Given the description of an element on the screen output the (x, y) to click on. 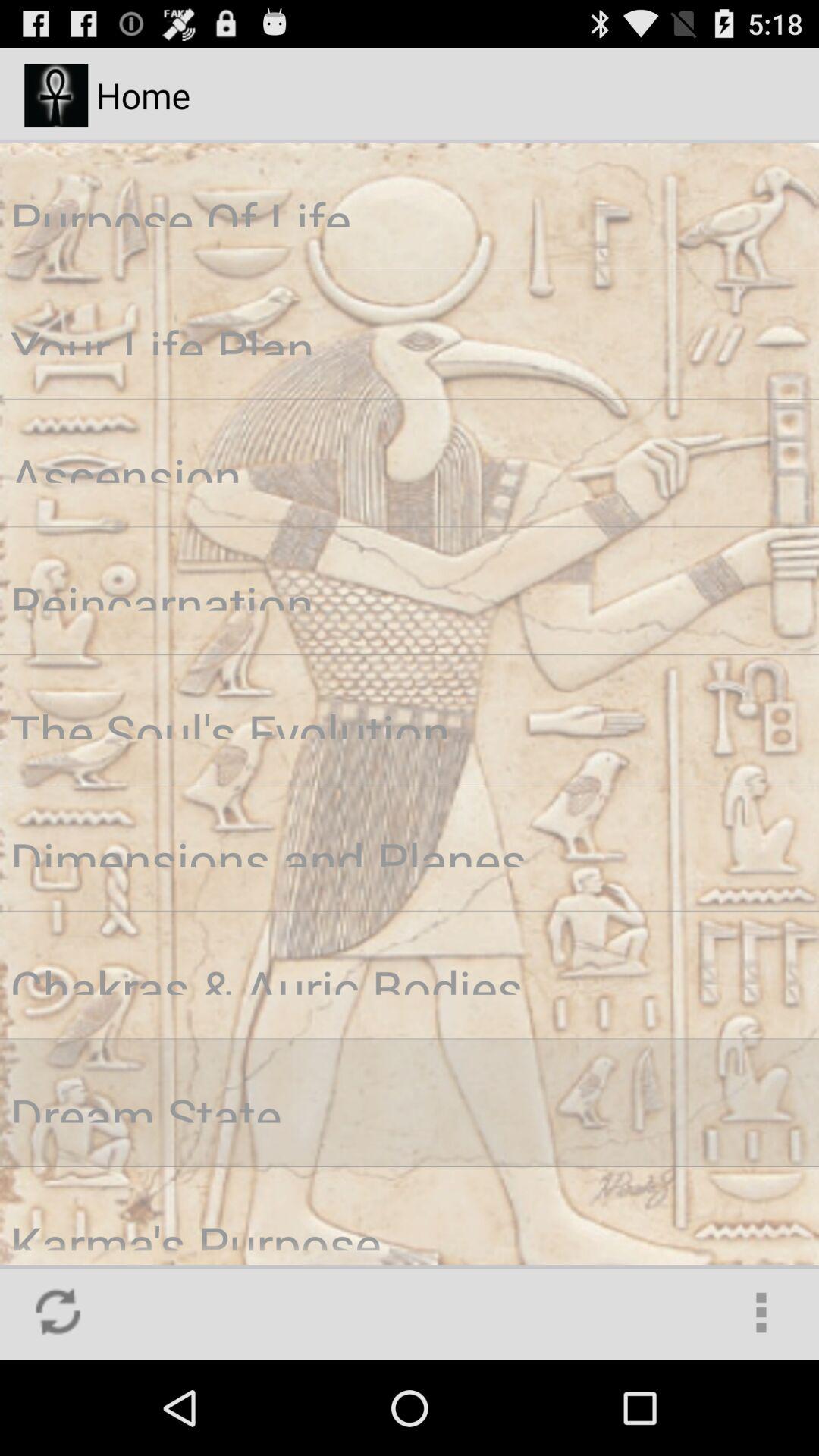
launch the icon at the bottom right corner (760, 1312)
